Given the description of an element on the screen output the (x, y) to click on. 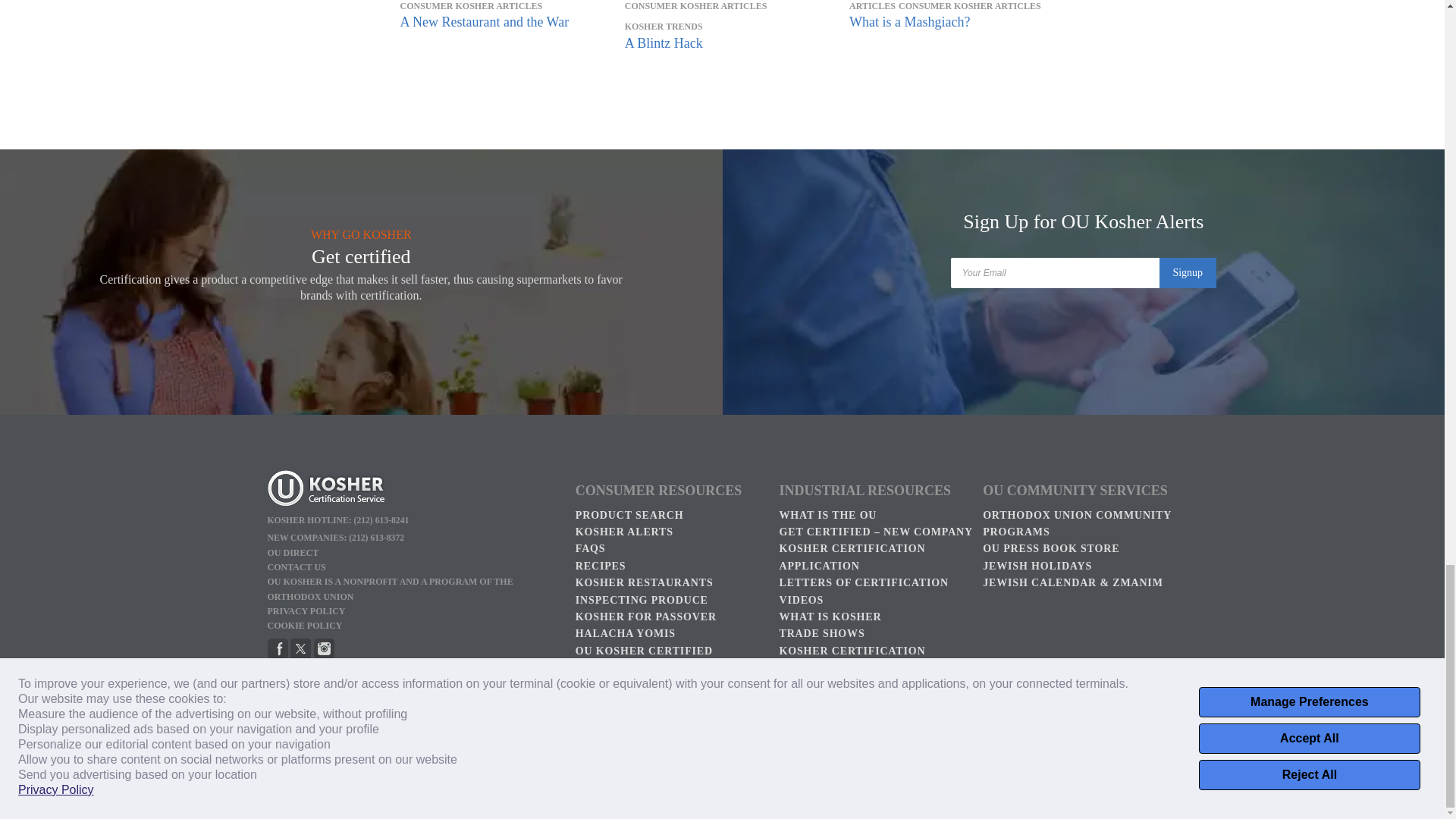
OU Kosher (300, 655)
OU Kosher (324, 655)
OU Kosher (413, 490)
OU Kosher (276, 655)
